Given the description of an element on the screen output the (x, y) to click on. 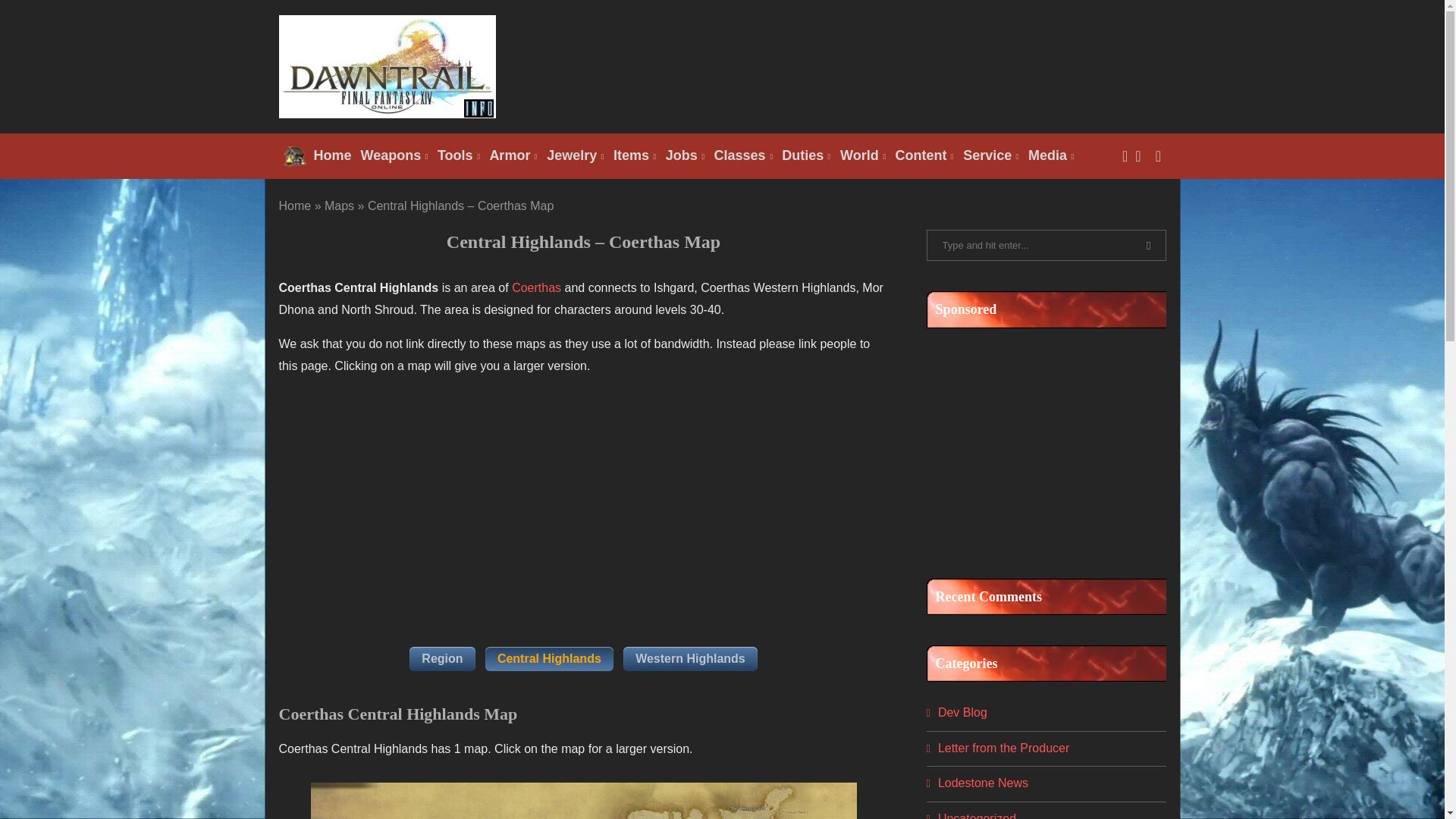
Tools (458, 156)
Weapons (394, 156)
Advertisement (583, 496)
Advertisement (890, 65)
Home (317, 156)
Advertisement (1040, 445)
